Given the description of an element on the screen output the (x, y) to click on. 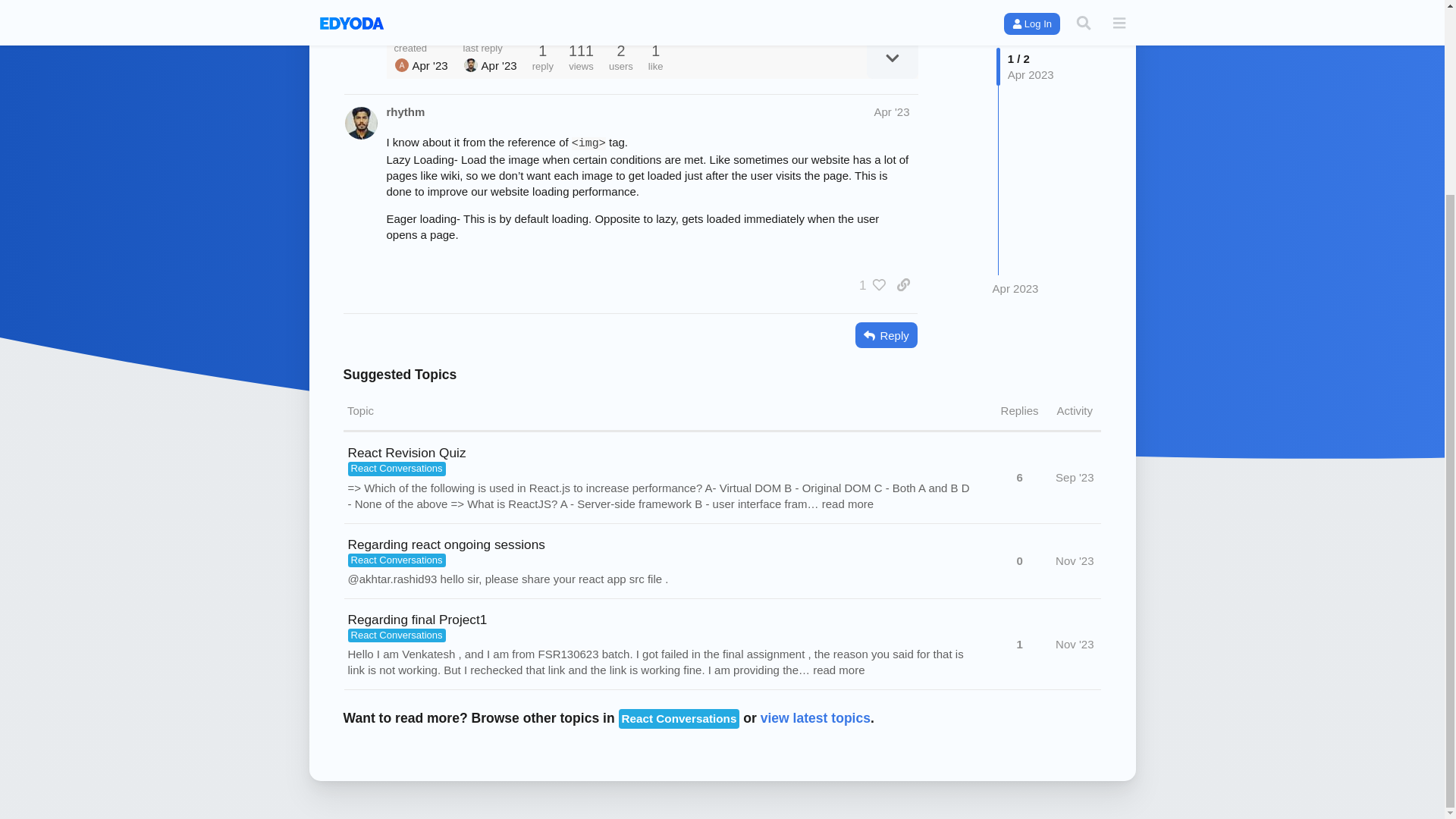
Apr 2023 (1015, 183)
Apr 25, 2023 9:00 pm (498, 65)
Regarding react ongoing sessions (445, 544)
expand topic details (892, 57)
Sep '23 (1074, 477)
Reply (886, 335)
Apr 2023 (1015, 183)
React Conversations (396, 468)
Post date (890, 111)
Atul Kumar (401, 64)
